Given the description of an element on the screen output the (x, y) to click on. 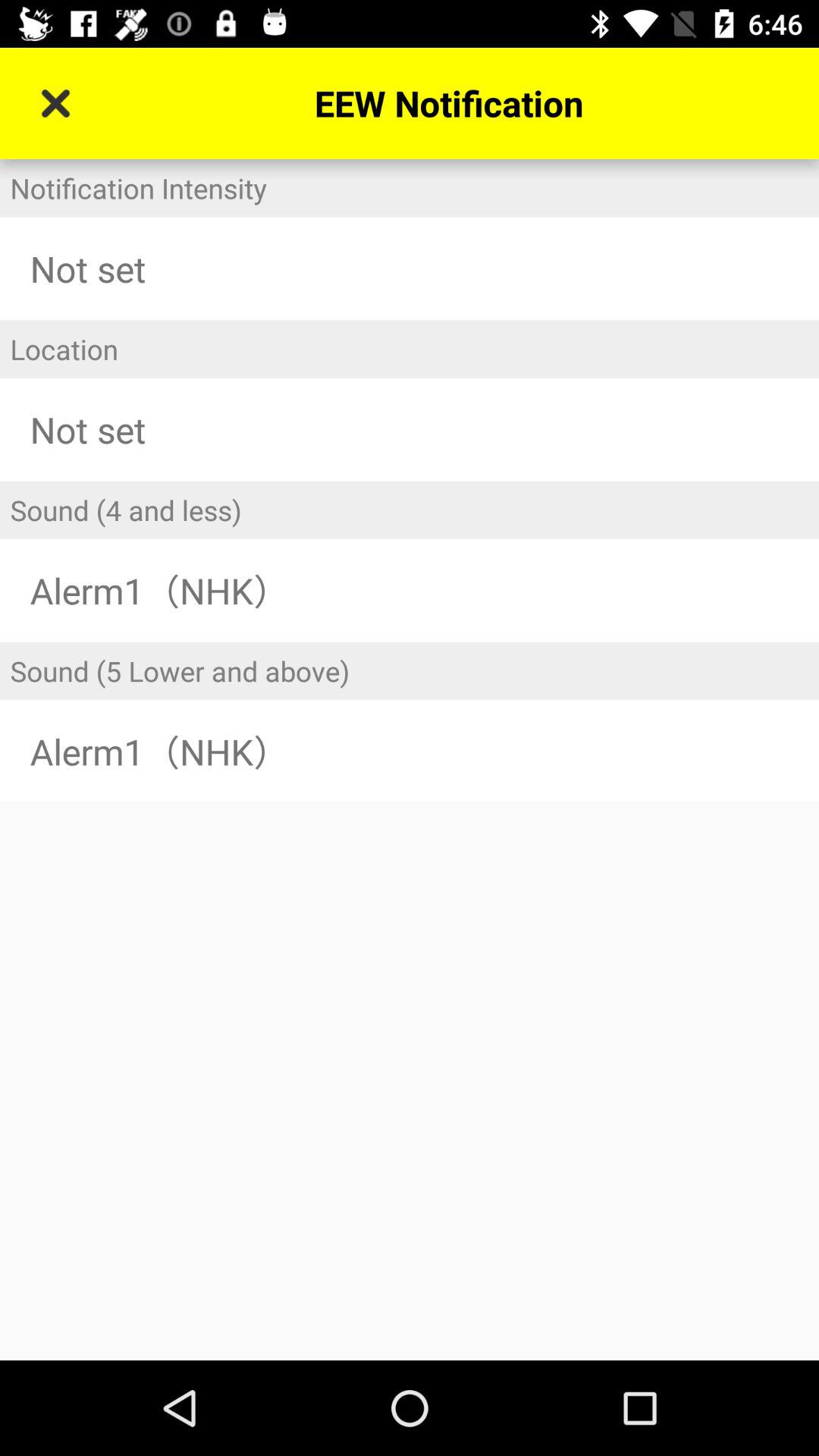
select the sound 5 lower icon (409, 670)
